Given the description of an element on the screen output the (x, y) to click on. 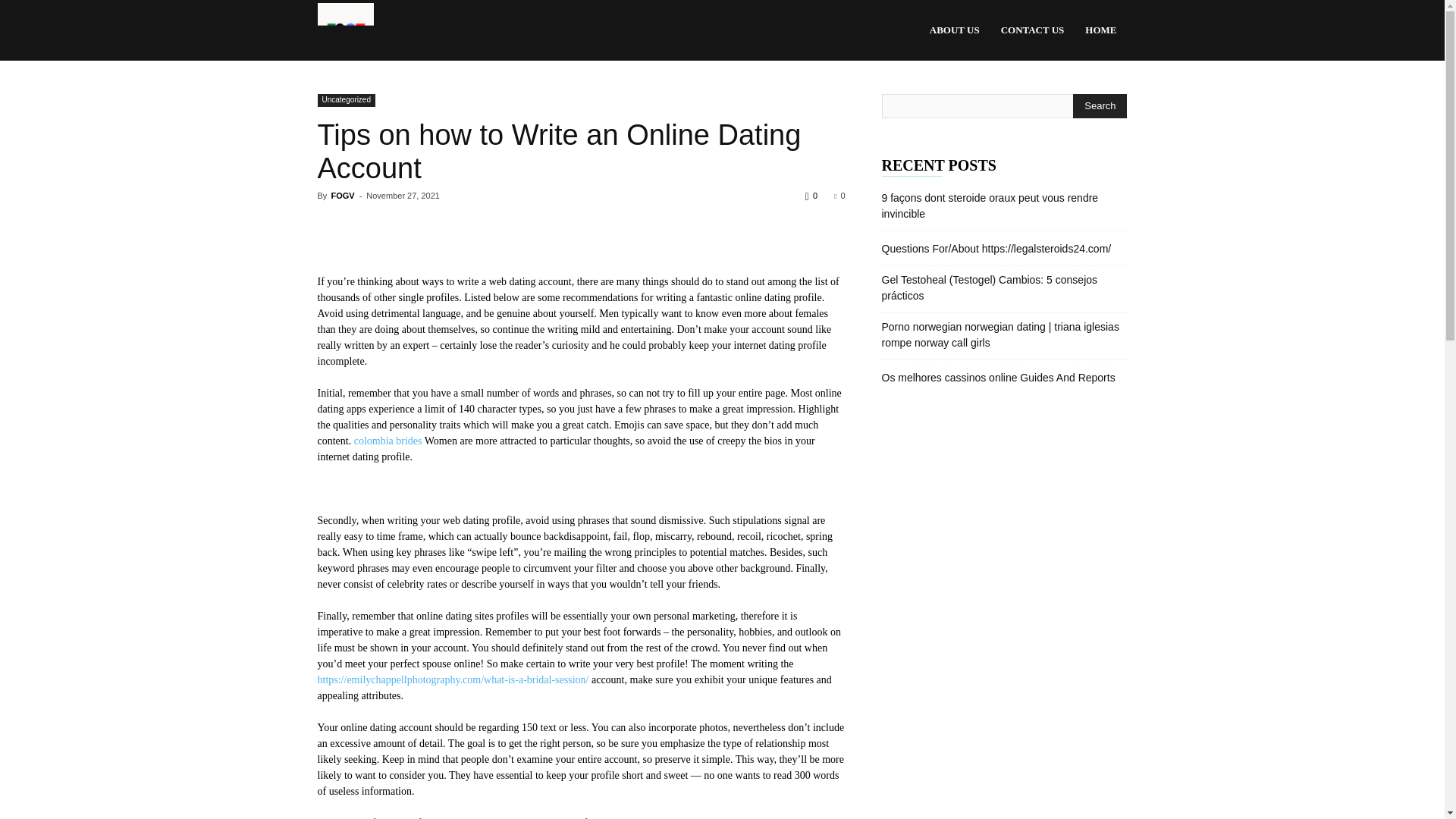
Search (1099, 105)
Uncategorized (345, 100)
colombia brides (387, 440)
FOGV (344, 30)
ABOUT US (954, 30)
0 (839, 194)
FOGV (341, 194)
CONTACT US (1032, 30)
